Given the description of an element on the screen output the (x, y) to click on. 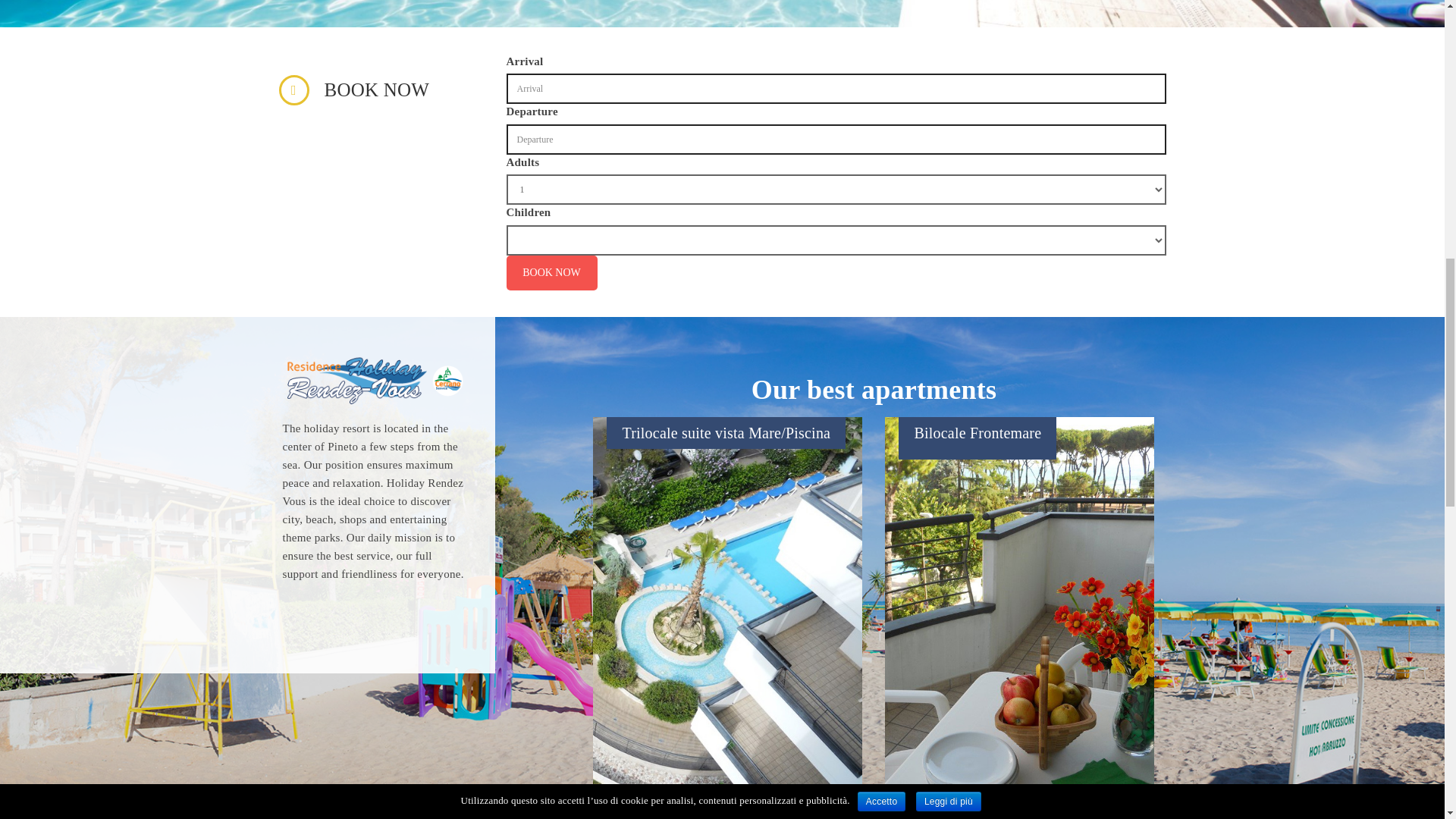
Book now (551, 272)
Bilocale Frontemare (977, 433)
Book now (551, 272)
